Given the description of an element on the screen output the (x, y) to click on. 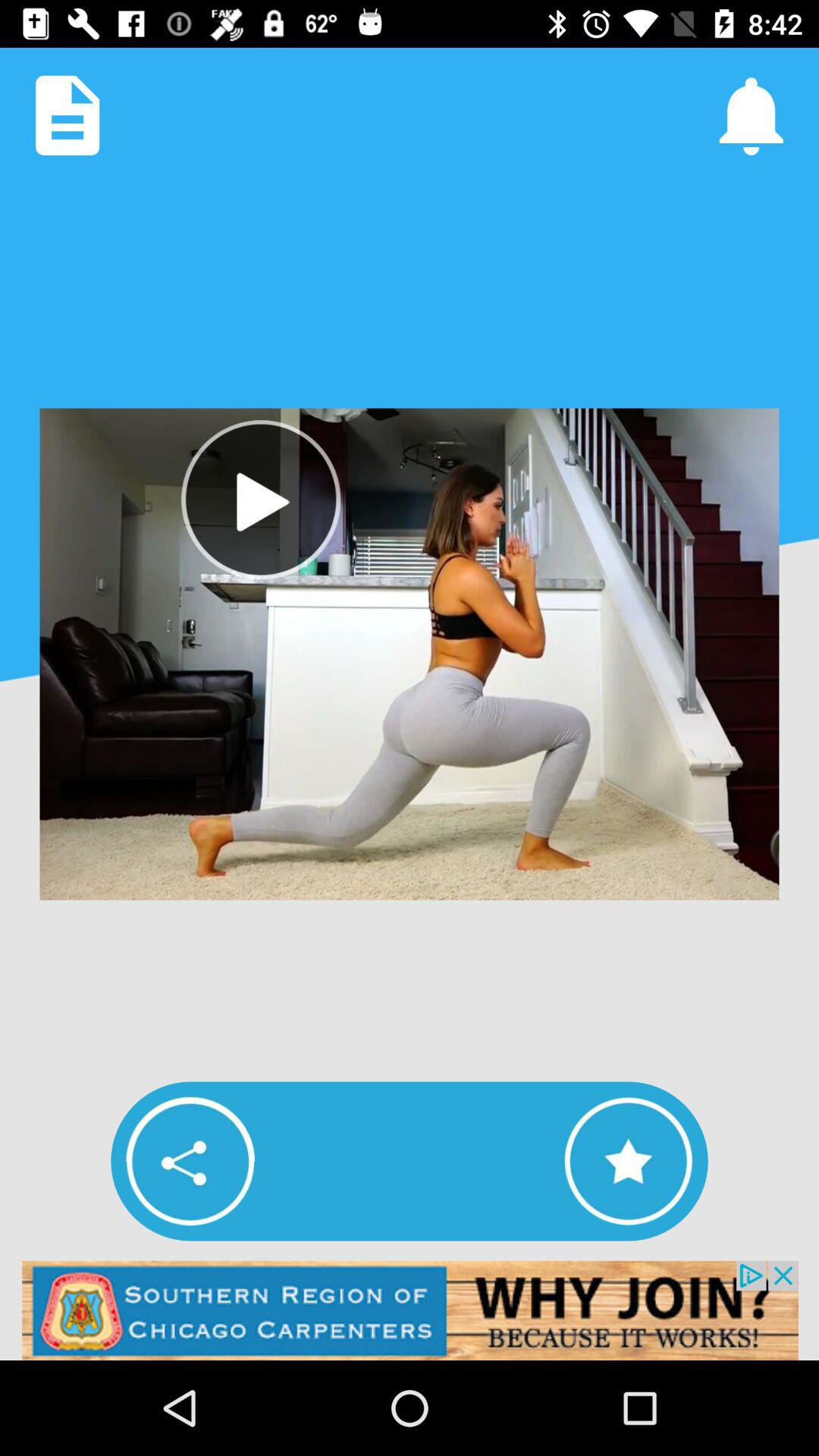
add to favorites (628, 1161)
